Given the description of an element on the screen output the (x, y) to click on. 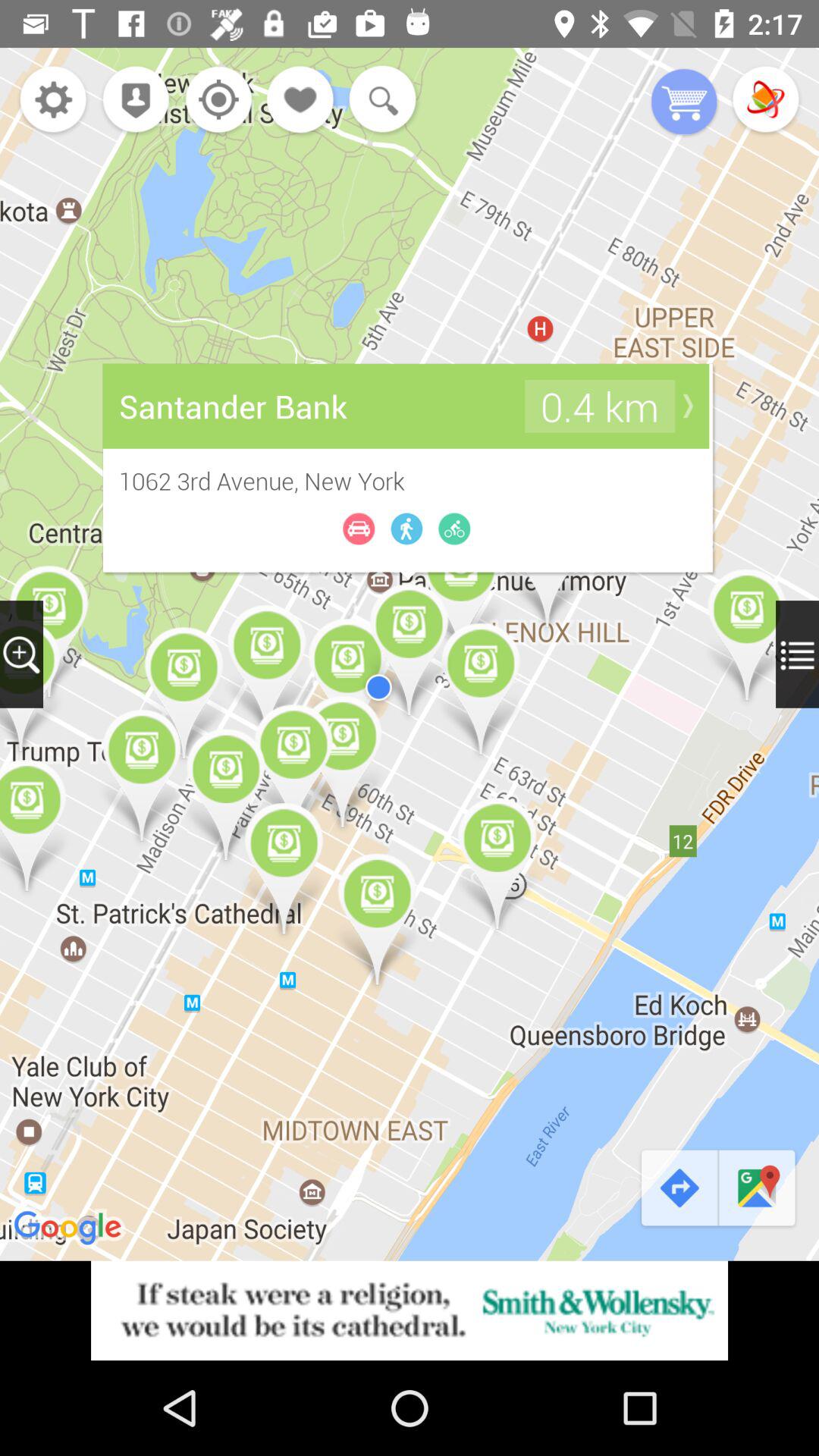
zoom in (21, 654)
